Given the description of an element on the screen output the (x, y) to click on. 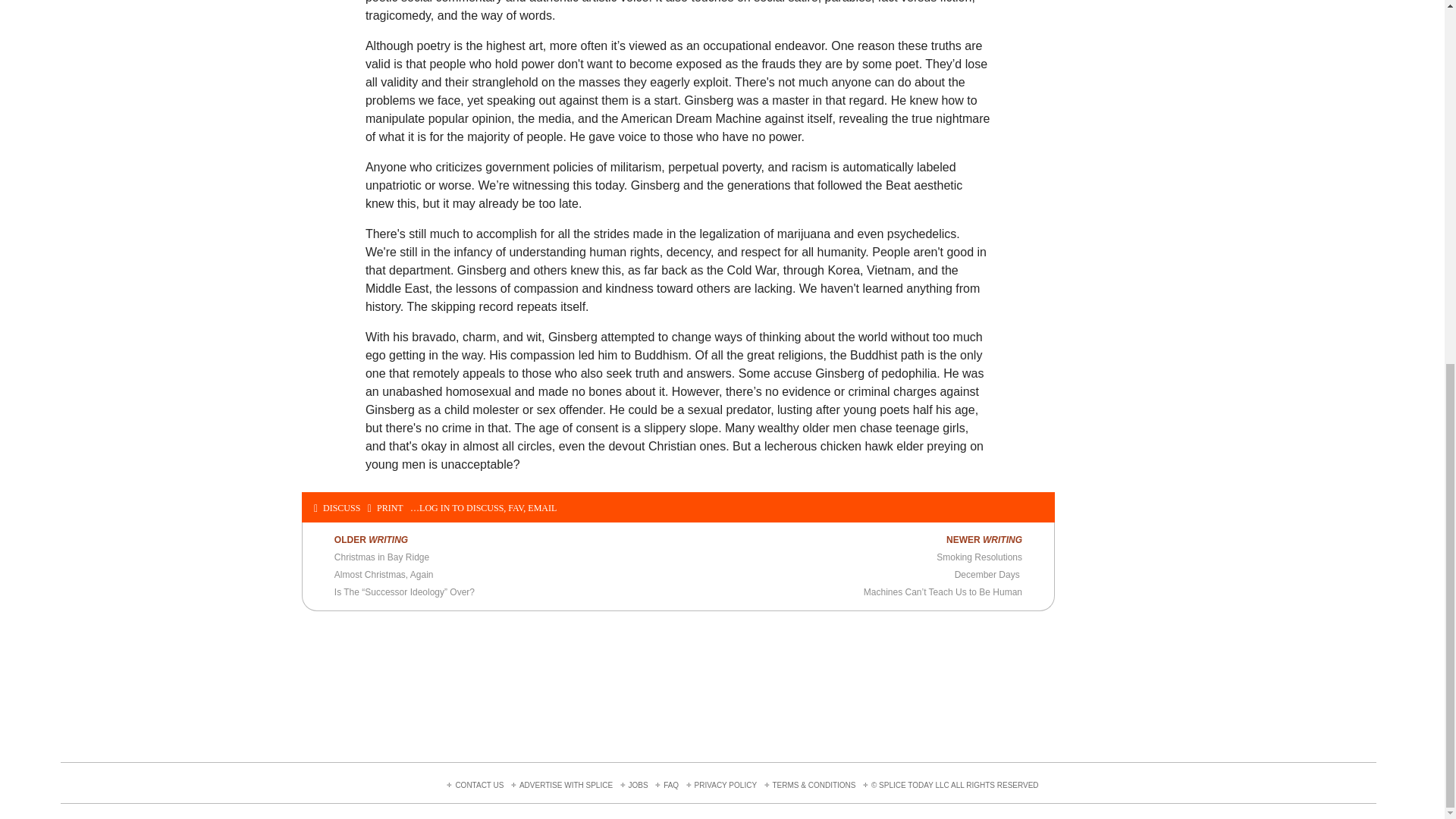
PRINT (385, 508)
Christmas in Bay Ridge (381, 557)
DISCUSS (336, 508)
